Given the description of an element on the screen output the (x, y) to click on. 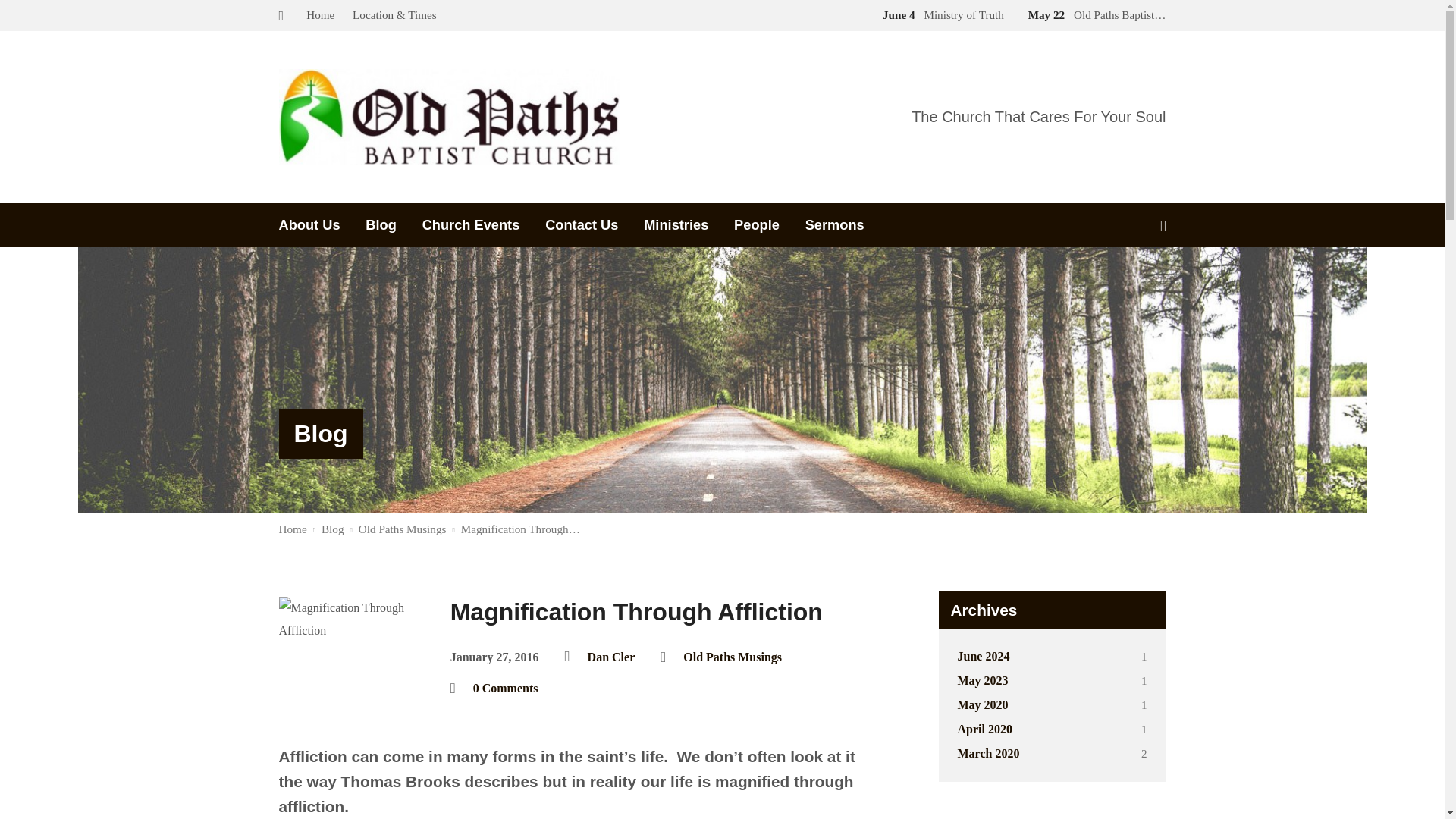
Blog (320, 433)
Old Paths Musings (402, 528)
Dan Cler (611, 656)
Blog (320, 433)
Old Paths Musings (731, 656)
0 Comments (505, 687)
Church Events (470, 224)
People (755, 224)
Ministry of Truth (940, 14)
Home (293, 528)
